Given the description of an element on the screen output the (x, y) to click on. 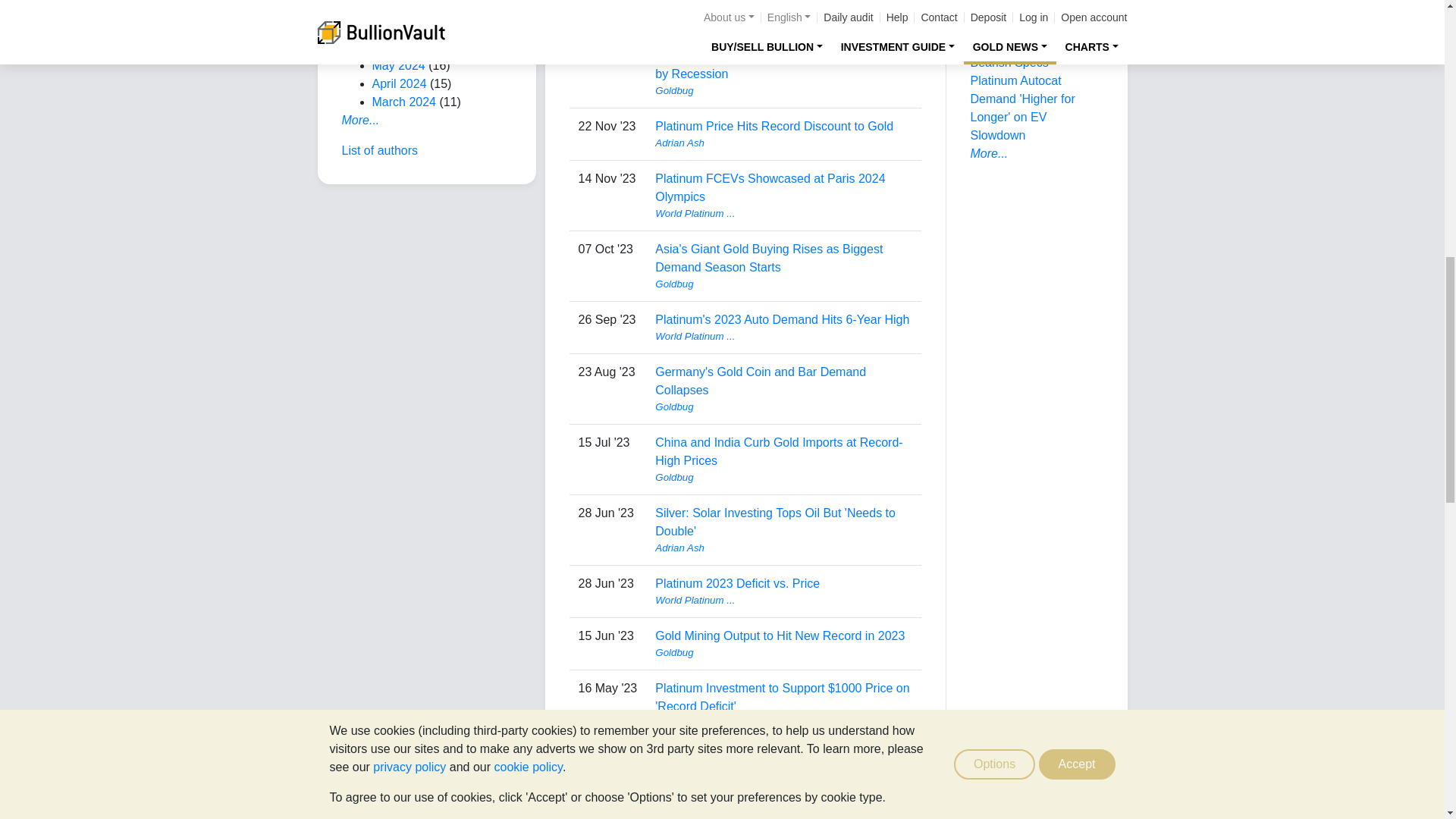
View user profile. (783, 90)
View user profile. (783, 142)
View user profile. (783, 283)
View user profile. (783, 20)
View user profile. (783, 213)
